Given the description of an element on the screen output the (x, y) to click on. 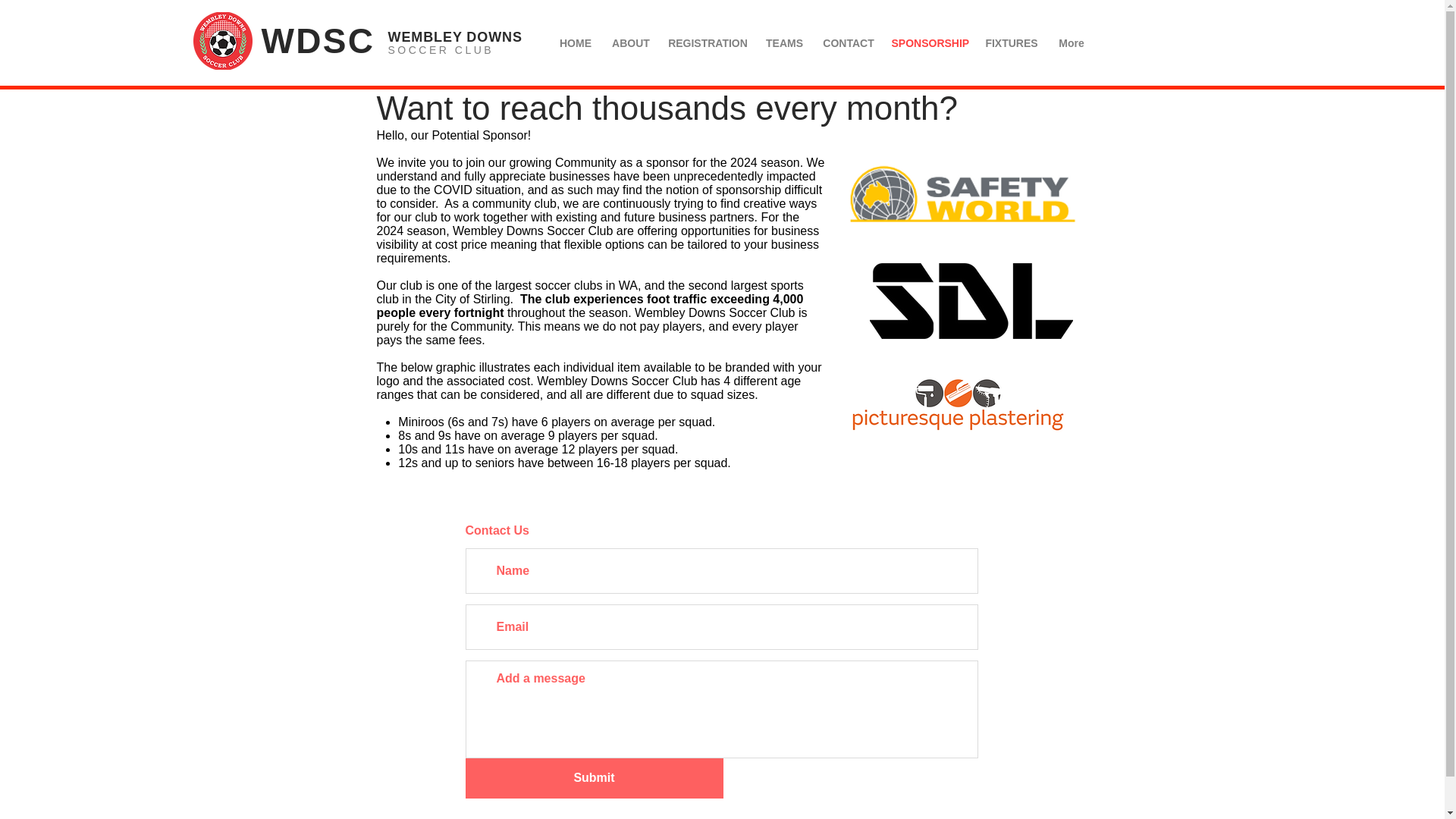
Picturesque Plastering Logo-1.png (961, 407)
Submit (594, 778)
WEMBLEY DOWNS (455, 37)
WDSC (317, 40)
REGISTRATION (707, 43)
FIXTURES (1010, 43)
SOCCER CLUB (441, 50)
HOME (574, 43)
SPONSORSHIP (929, 43)
